Given the description of an element on the screen output the (x, y) to click on. 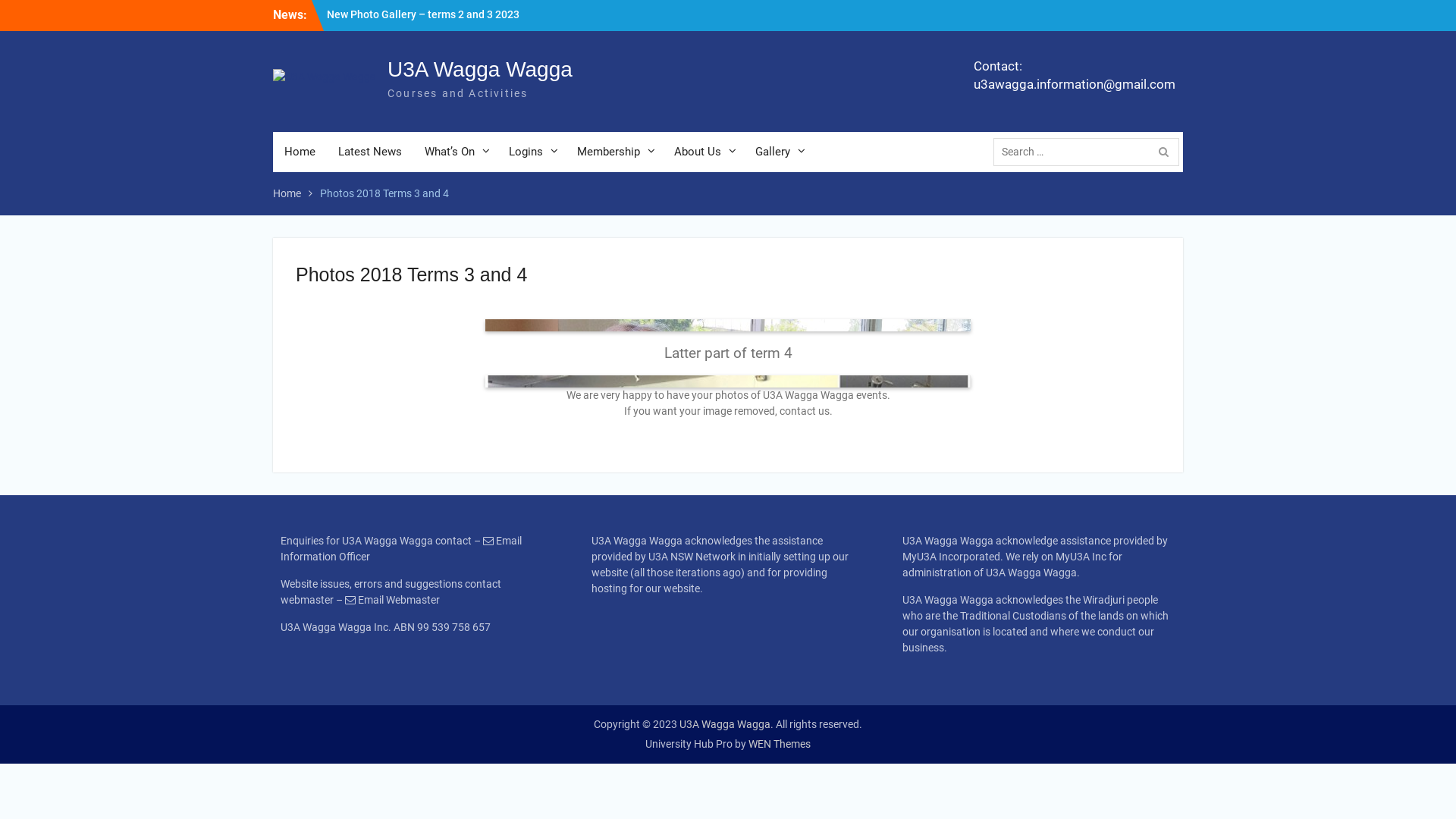
WEN Themes Element type: text (779, 743)
Latest News Element type: text (369, 151)
u3awagga.information@gmail.com Element type: text (1074, 84)
U3A Wagga Wagga Element type: text (724, 724)
About Us Element type: text (702, 151)
Logins Element type: text (531, 151)
Home Element type: text (299, 151)
Christmas Lunch Element type: hover (242, 455)
Home Element type: text (287, 192)
Contact: Element type: text (1074, 66)
U3A Wagga Wagga Element type: text (479, 69)
April 8 & 9 2024 Network NSW Conference Invitation Element type: text (426, 22)
Email Webmaster Element type: text (398, 599)
Membership Element type: text (613, 151)
Gallery Element type: text (777, 151)
Christmas Lunch Element type: hover (727, 455)
Email Information Officer Element type: text (400, 548)
